Given the description of an element on the screen output the (x, y) to click on. 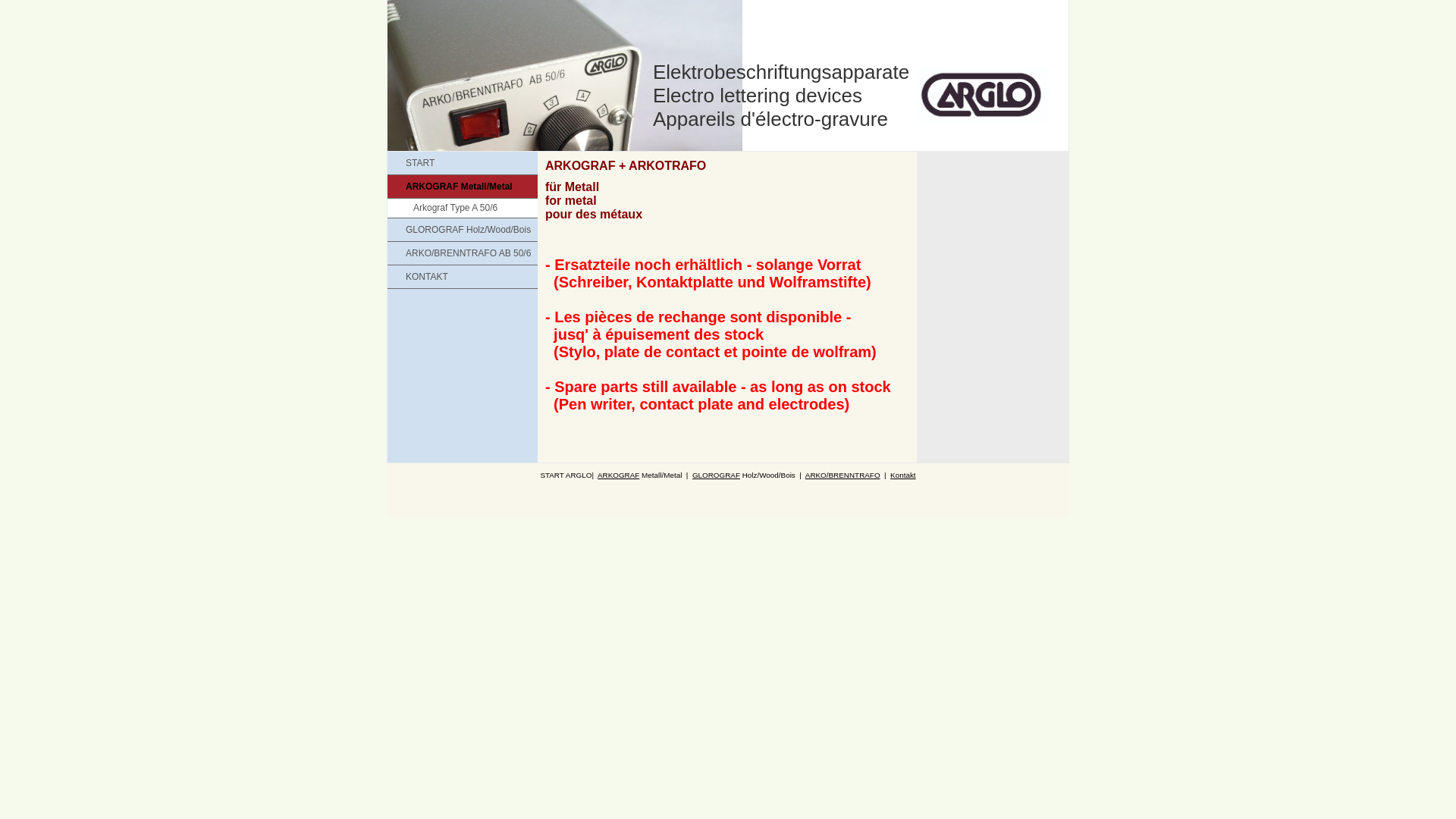
Kontakt Element type: text (903, 474)
ARKO/BRENNTRAFO AB 50/6 Element type: text (462, 252)
ARKO/BRENNTRAFO Element type: text (842, 474)
KONTAKT Element type: text (462, 276)
Arkograf Type A 50/6 Element type: text (462, 207)
START Element type: text (462, 162)
GLOROGRAF Element type: text (716, 474)
ARKOGRAF Element type: text (618, 474)
GLOROGRAF Holz/Wood/Bois Element type: text (462, 229)
ARKOGRAF Metall/Metal Element type: text (462, 186)
